Given the description of an element on the screen output the (x, y) to click on. 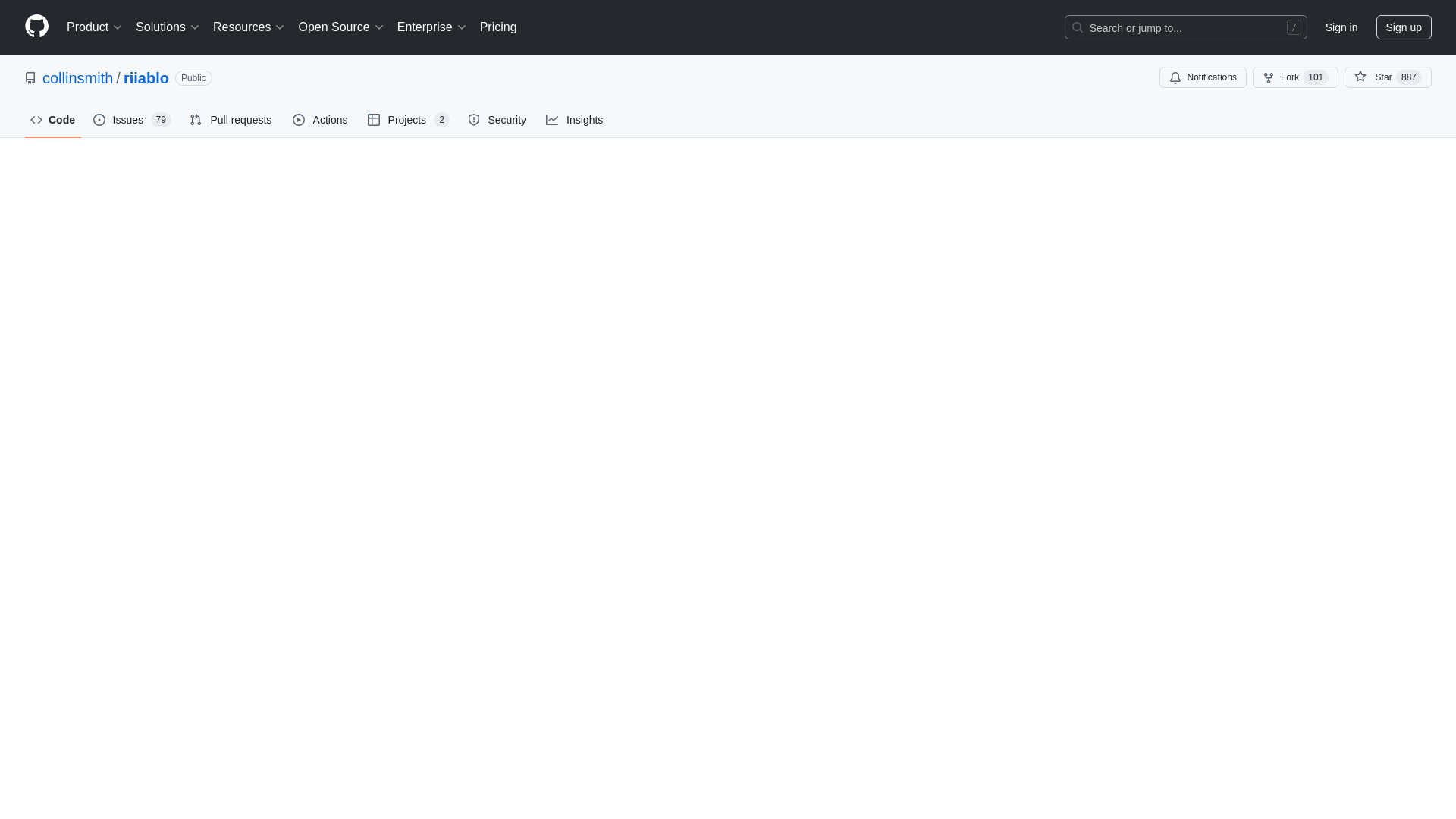
79 (161, 119)
101 (1315, 77)
Resources (249, 27)
Solutions (167, 27)
887 (1409, 77)
Product (95, 27)
Open Source (341, 27)
2 (441, 119)
